Given the description of an element on the screen output the (x, y) to click on. 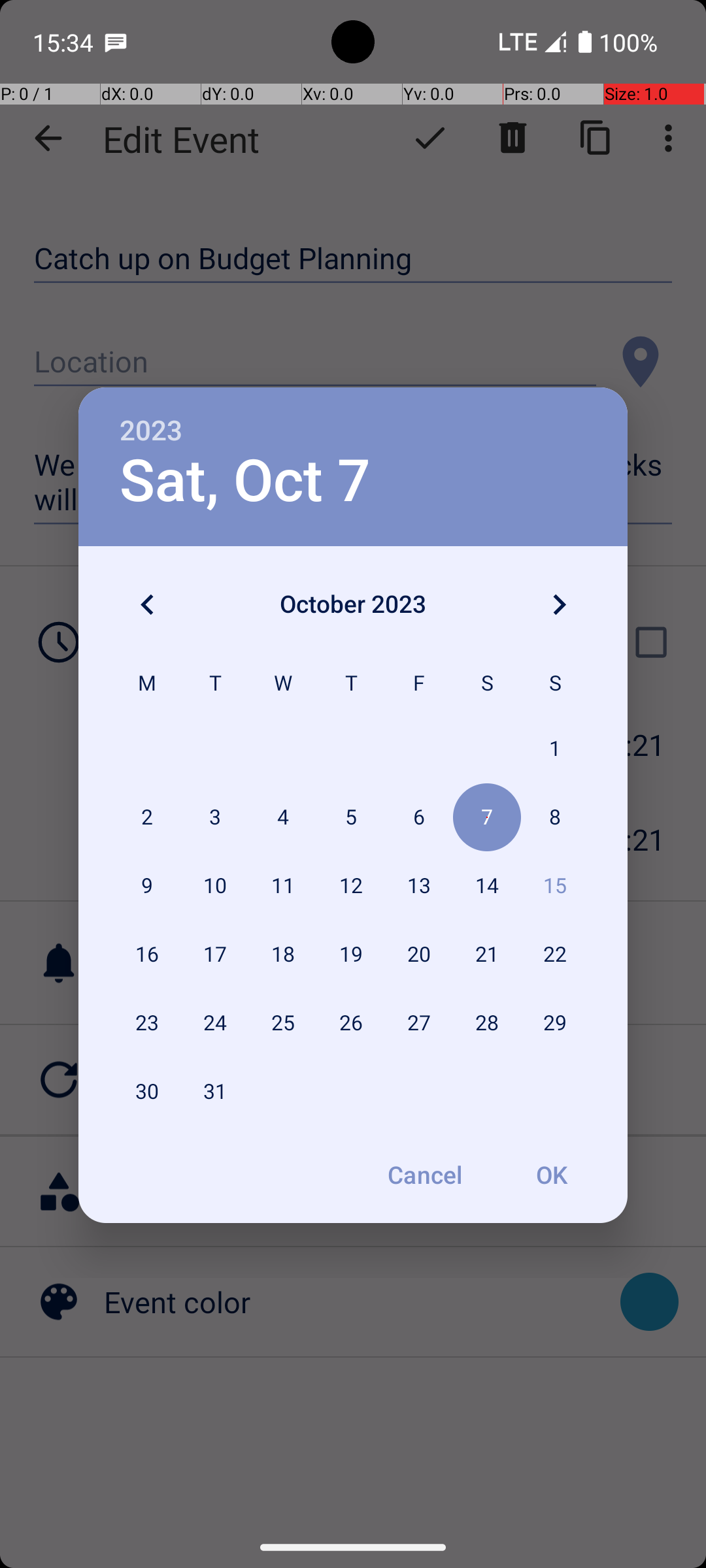
Sat, Oct 7 Element type: android.widget.TextView (244, 480)
